Given the description of an element on the screen output the (x, y) to click on. 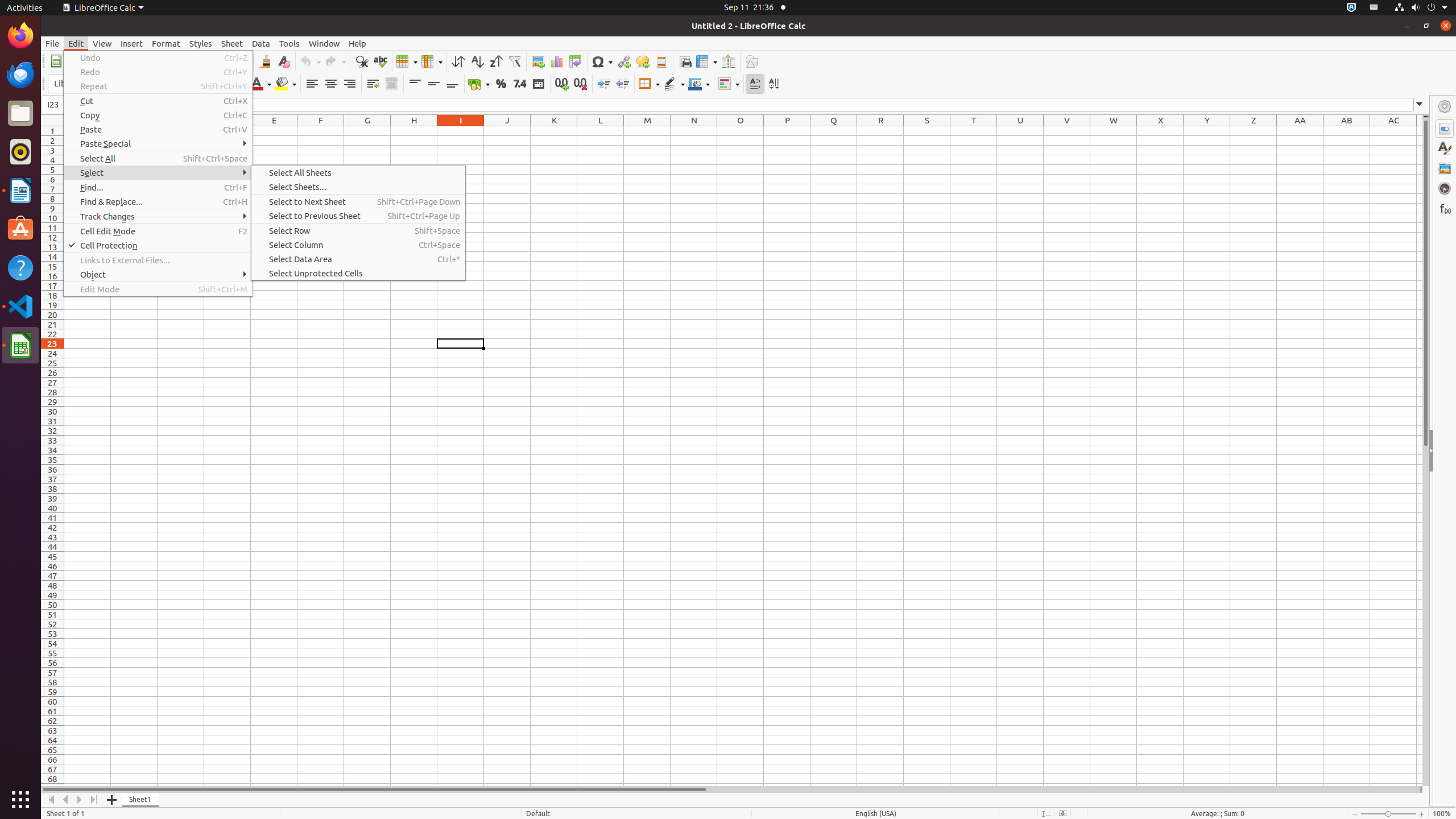
Edit Element type: menu (75, 43)
Insert Element type: menu (131, 43)
T1 Element type: table-cell (973, 130)
Border Style Element type: push-button (673, 83)
Window Element type: menu (324, 43)
